Given the description of an element on the screen output the (x, y) to click on. 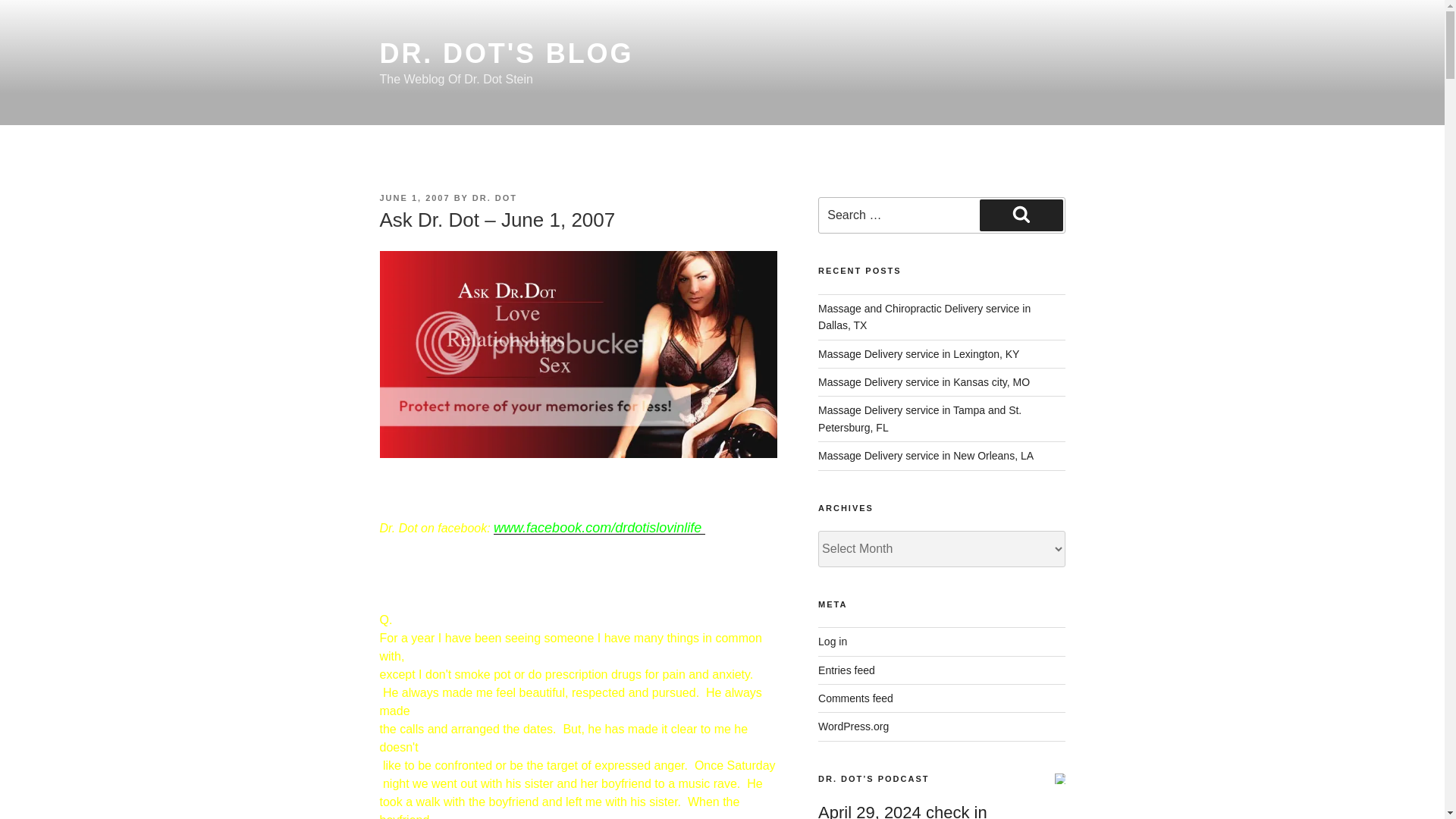
Massage Delivery service in New Orleans, LA (925, 455)
Comments feed (855, 698)
DR. DOT (493, 197)
Massage Delivery service in Tampa and St. Petersburg, FL (920, 418)
Search (1020, 214)
Log in (832, 641)
April 29, 2024 check in (902, 811)
JUNE 1, 2007 (413, 197)
DR. DOT'S BLOG (505, 52)
Entries feed (846, 670)
